Given the description of an element on the screen output the (x, y) to click on. 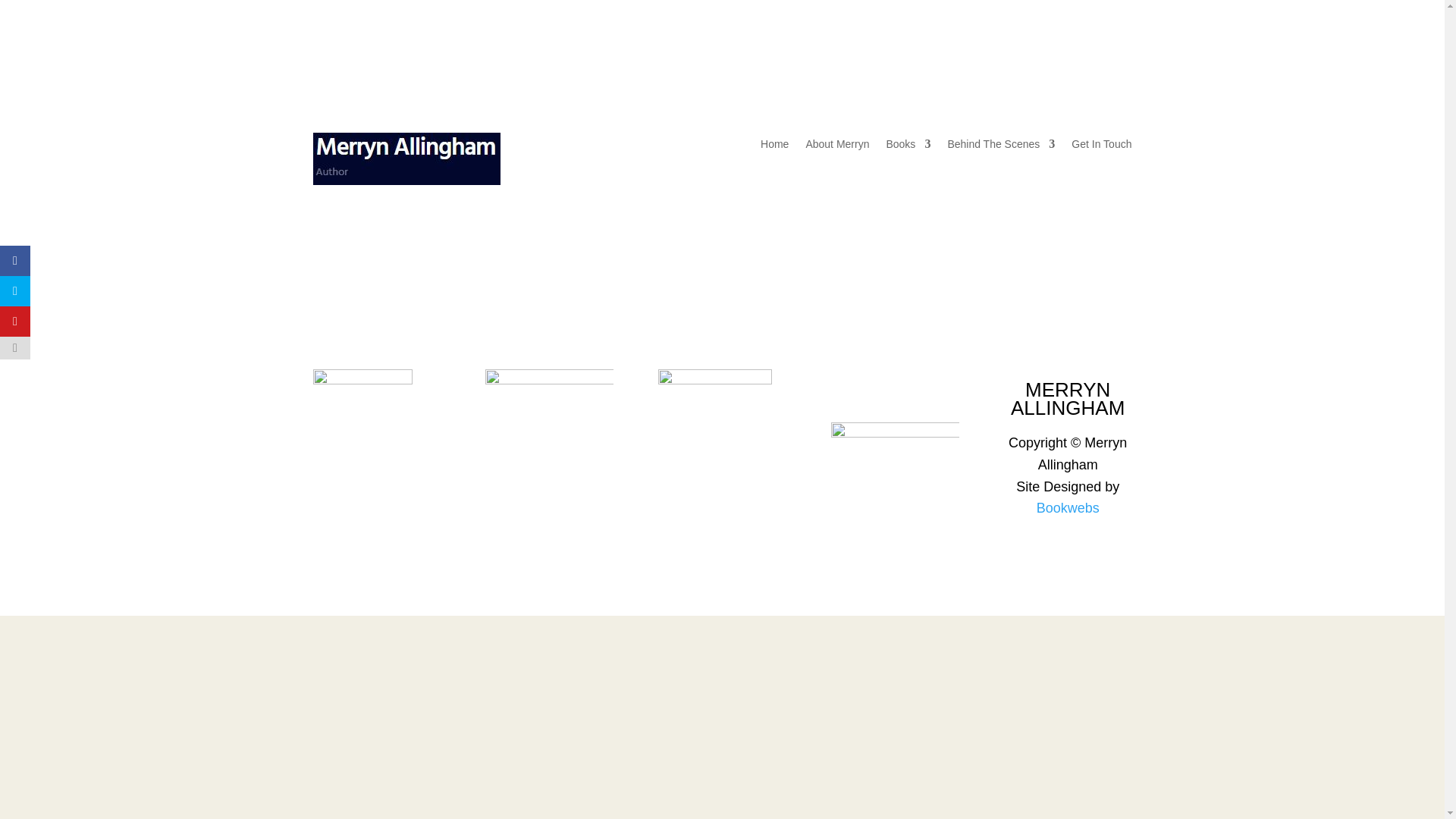
Home (774, 146)
Follow on Facebook (863, 381)
merryn-allingham-logo2 (406, 158)
Follow on Facebook (1058, 73)
About Merryn (837, 146)
Bookwebs (1067, 507)
Follow on X (1088, 73)
historical-novel (362, 413)
Follow on Pinterest (924, 381)
Get In Touch (1101, 146)
Follow on Pinterest (1118, 73)
Follow on X (894, 381)
Behind The Scenes (1000, 146)
Books (907, 146)
Websites for Authors (1067, 507)
